Given the description of an element on the screen output the (x, y) to click on. 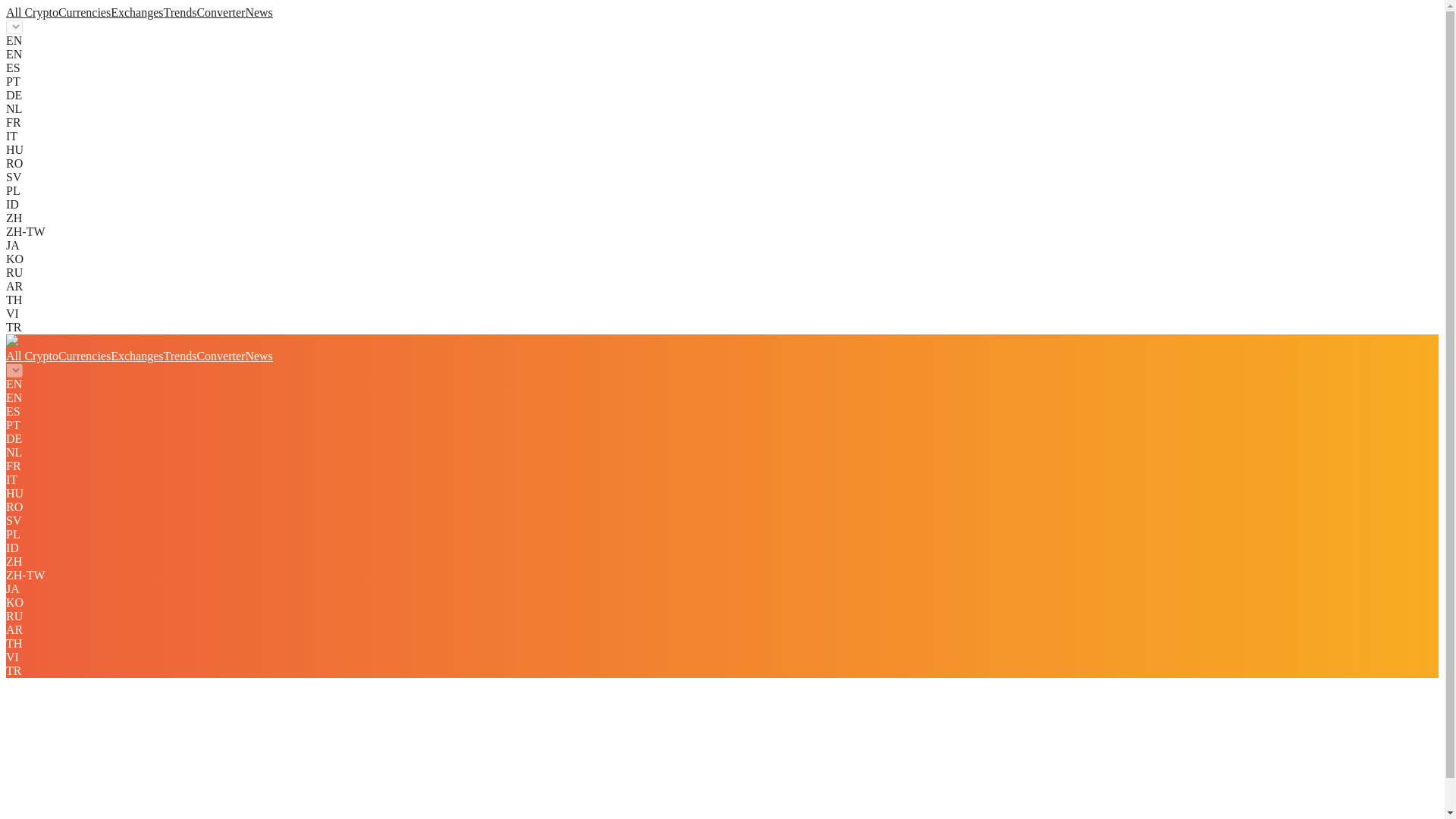
All CryptoCurrencies (57, 355)
Trends (179, 355)
News (258, 11)
Converter (220, 355)
All CryptoCurrencies (57, 11)
News (258, 355)
Exchanges (136, 355)
Converter (220, 11)
Exchanges (136, 11)
Trends (179, 11)
